Given the description of an element on the screen output the (x, y) to click on. 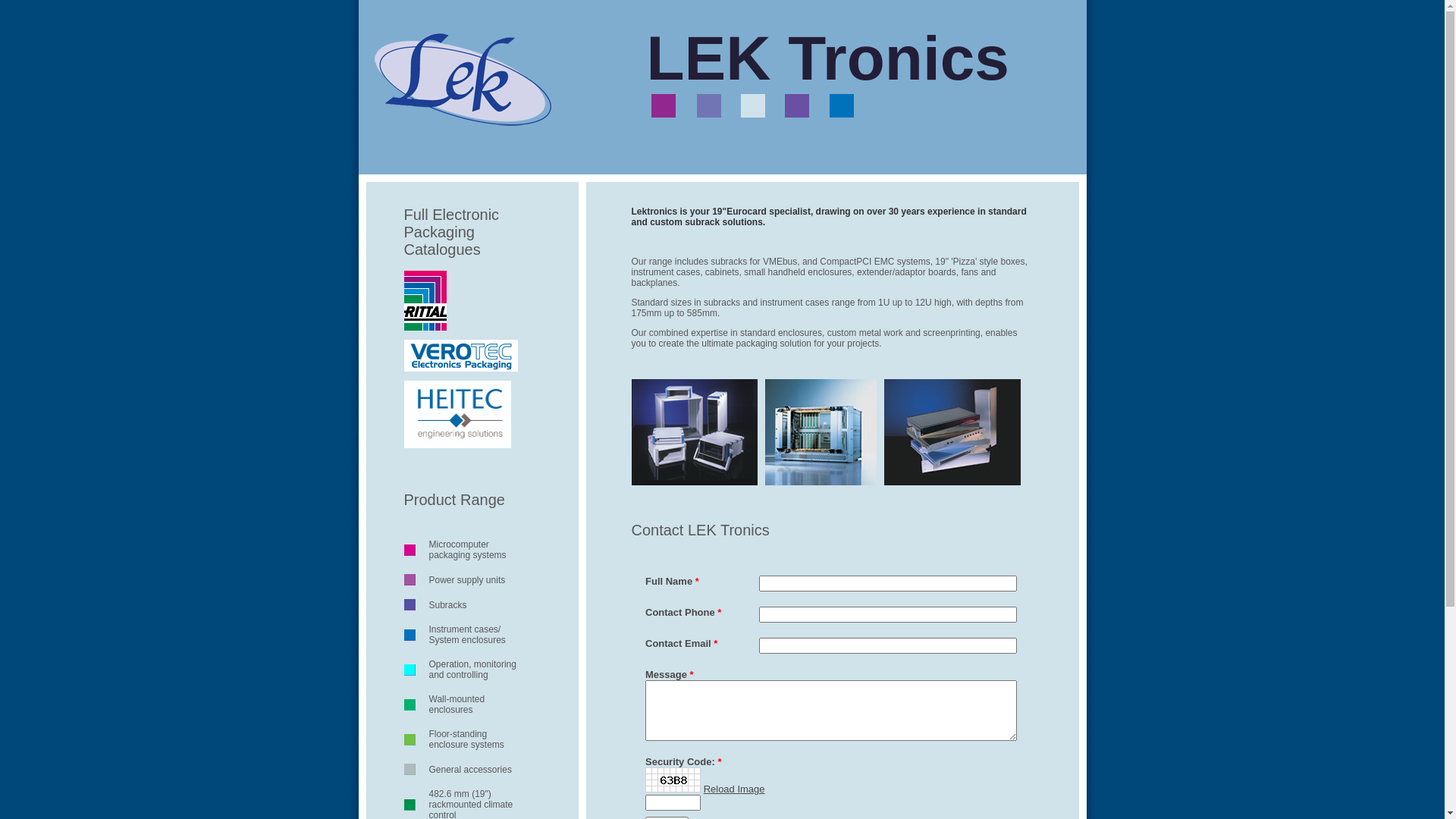
General accessories Element type: text (470, 769)
Microcomputer packaging systems Element type: text (467, 549)
Operation, monitoring and controlling Element type: text (472, 669)
Subracks Element type: text (448, 604)
Floor-standing enclosure systems Element type: text (466, 738)
Wall-mounted enclosures Element type: text (457, 704)
Power supply units Element type: text (467, 579)
Instrument cases/ System enclosures Element type: text (467, 634)
